Given the description of an element on the screen output the (x, y) to click on. 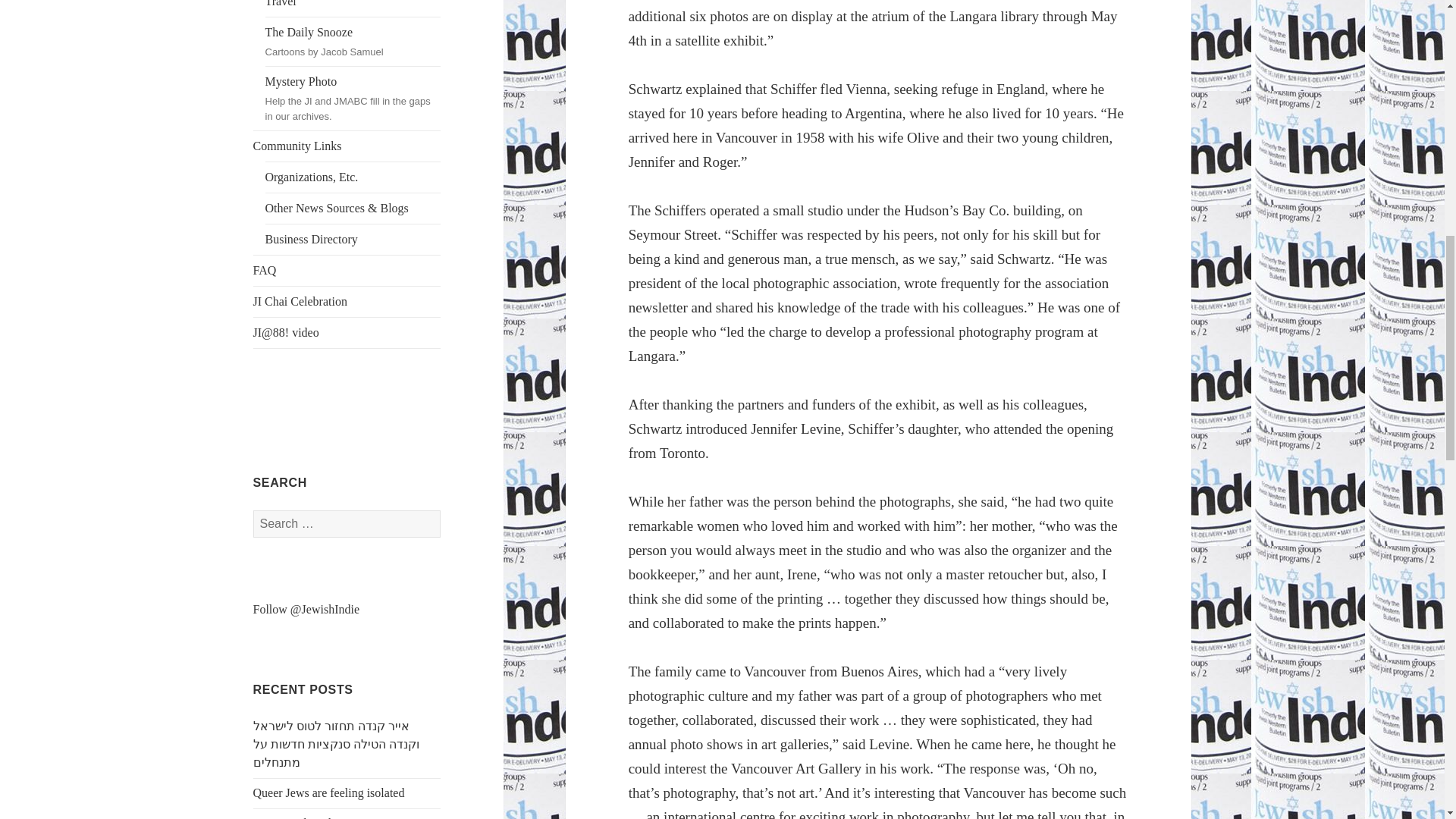
Enjoy Bach with a twist (311, 817)
Queer Jews are feeling isolated (328, 792)
Organizations, Etc. (352, 177)
FAQ (347, 270)
Business Directory (352, 239)
Community Links (347, 146)
